Given the description of an element on the screen output the (x, y) to click on. 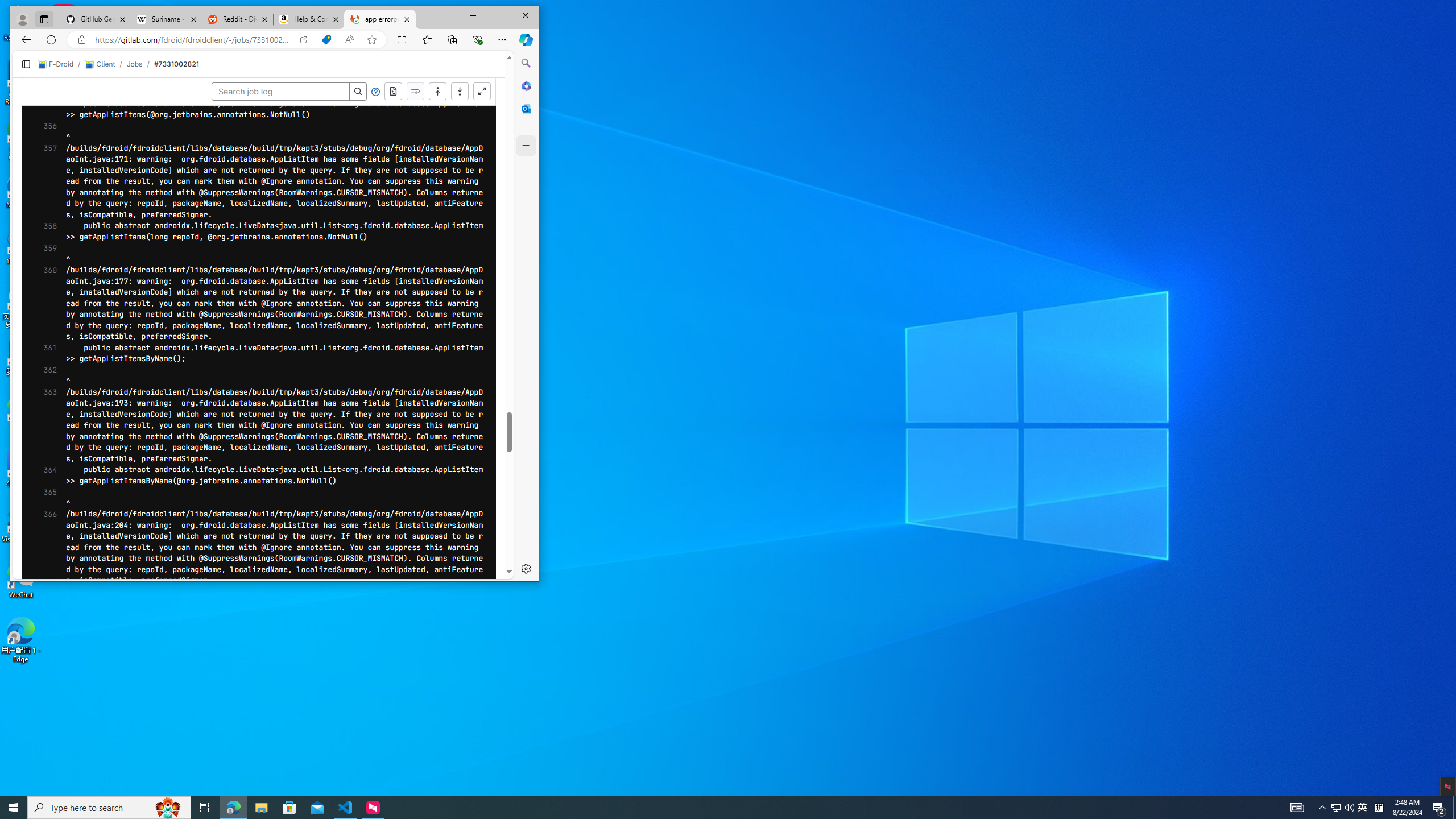
428 (41, 455)
425 (41, 422)
422 (41, 388)
416 (41, 322)
408 (41, 233)
Visual Studio Code - 1 running window (345, 807)
436 (41, 544)
Q2790: 100% (1349, 807)
441 (41, 743)
440 (41, 588)
